Given the description of an element on the screen output the (x, y) to click on. 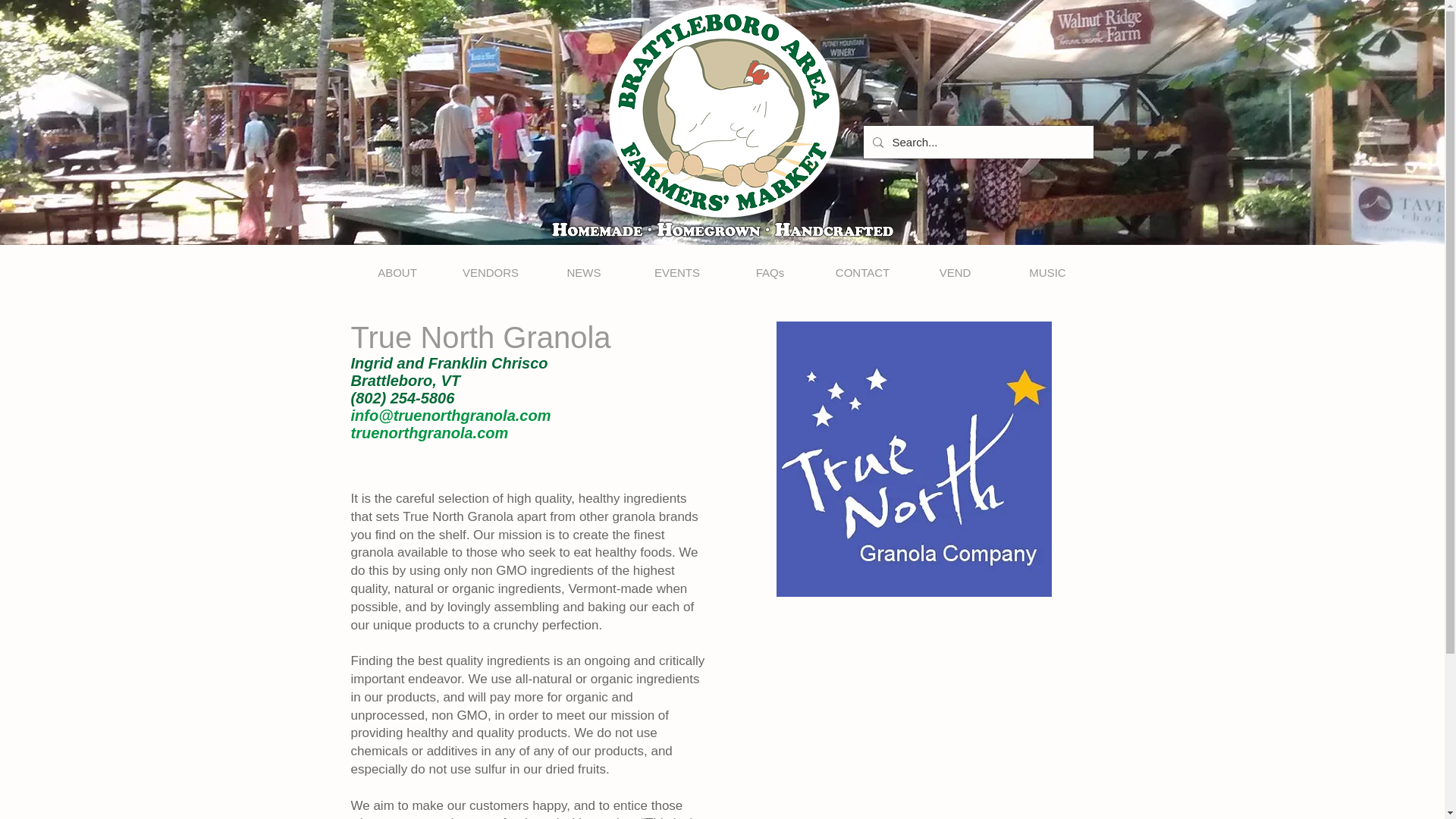
CONTACT (861, 272)
MUSIC (1047, 272)
FAQs (769, 272)
NEWS (583, 272)
each (664, 606)
VEND (954, 272)
EVENTS (676, 272)
VENDORS (490, 272)
truenorthgranola.com (429, 433)
ABOUT (397, 272)
